Given the description of an element on the screen output the (x, y) to click on. 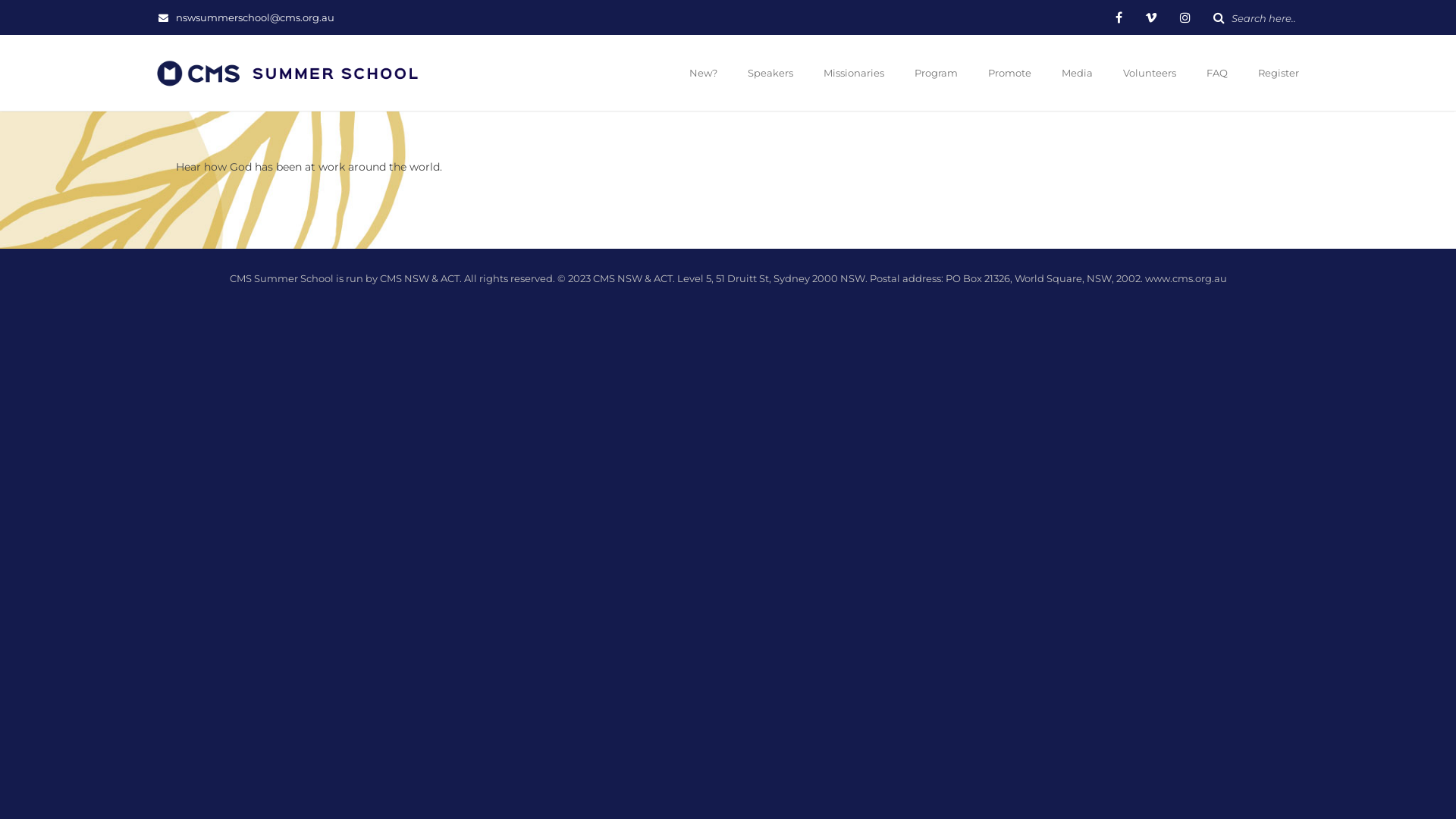
New? Element type: text (703, 73)
Register Element type: text (1276, 73)
FAQ Element type: text (1216, 73)
nswsummerschool@cms.org.au Element type: text (257, 17)
Missionaries Element type: text (853, 73)
Speakers Element type: text (770, 73)
Promote Element type: text (1009, 73)
Volunteers Element type: text (1149, 73)
Program Element type: text (935, 73)
Media Element type: text (1076, 73)
